Given the description of an element on the screen output the (x, y) to click on. 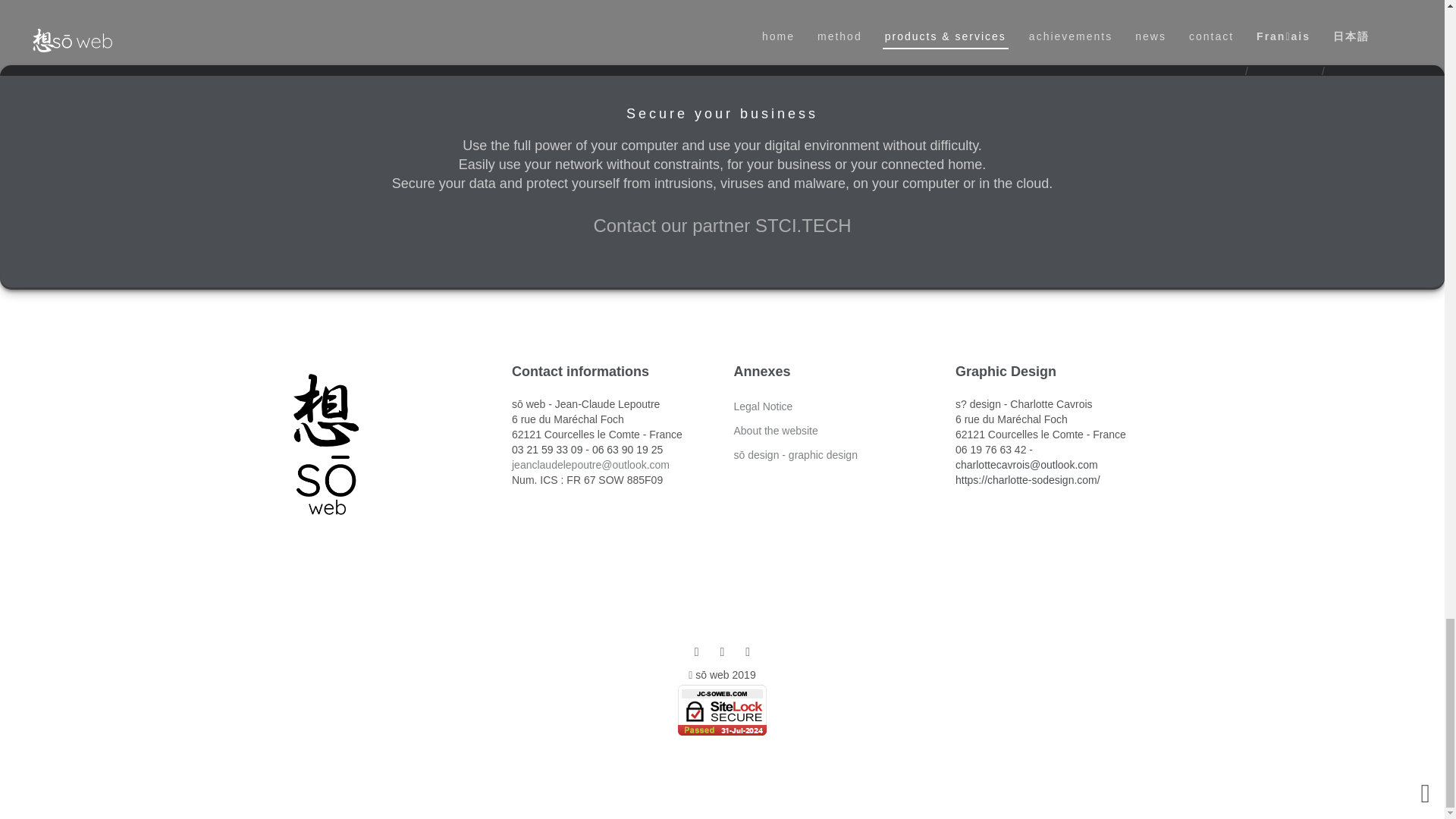
06 63 90 19 25 (627, 449)
SiteLock (722, 709)
About the website (775, 430)
03 21 59 33 09 (547, 449)
Legal Notice (763, 406)
